Given the description of an element on the screen output the (x, y) to click on. 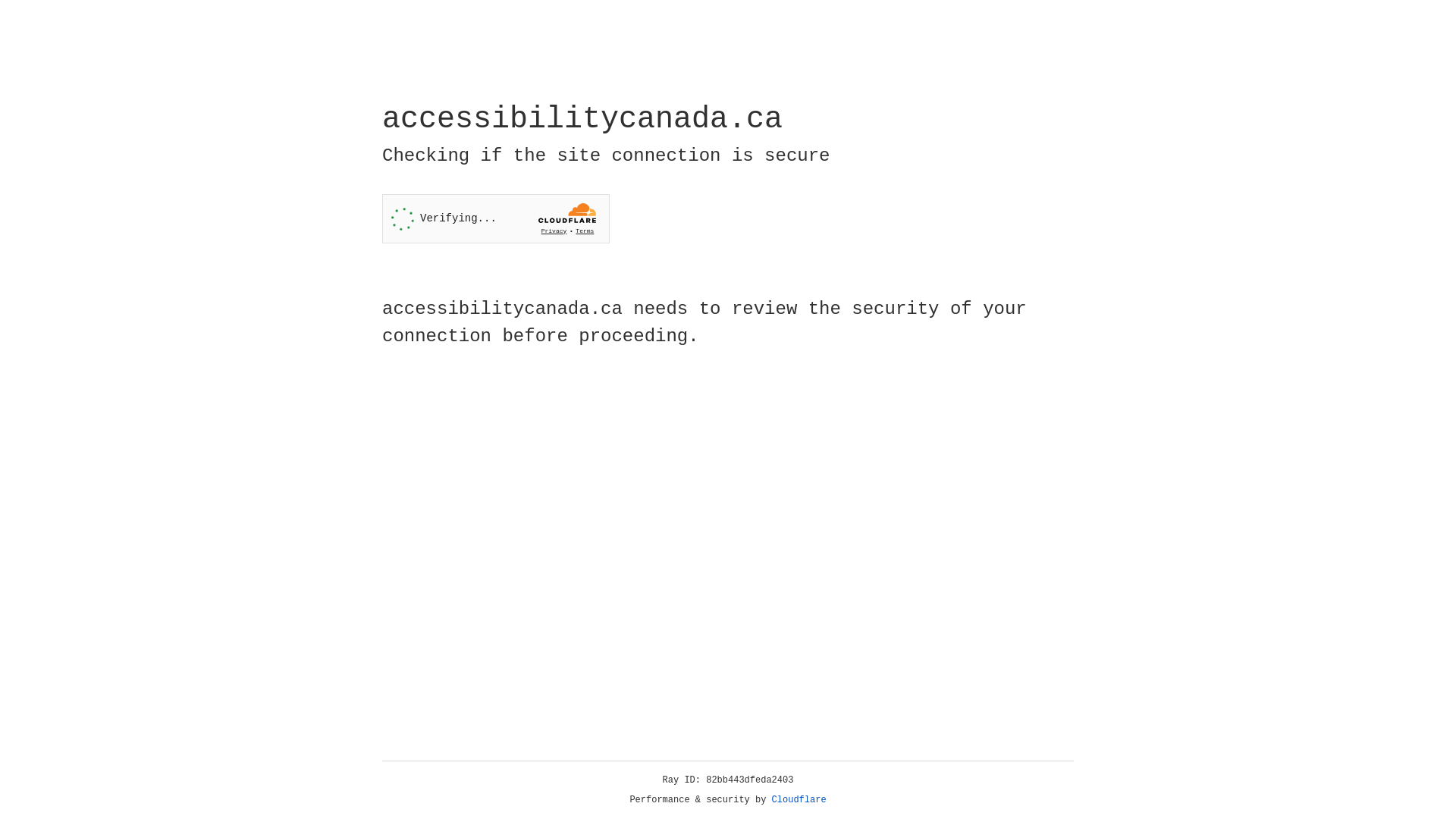
Cloudflare Element type: text (798, 799)
Widget containing a Cloudflare security challenge Element type: hover (495, 218)
